Given the description of an element on the screen output the (x, y) to click on. 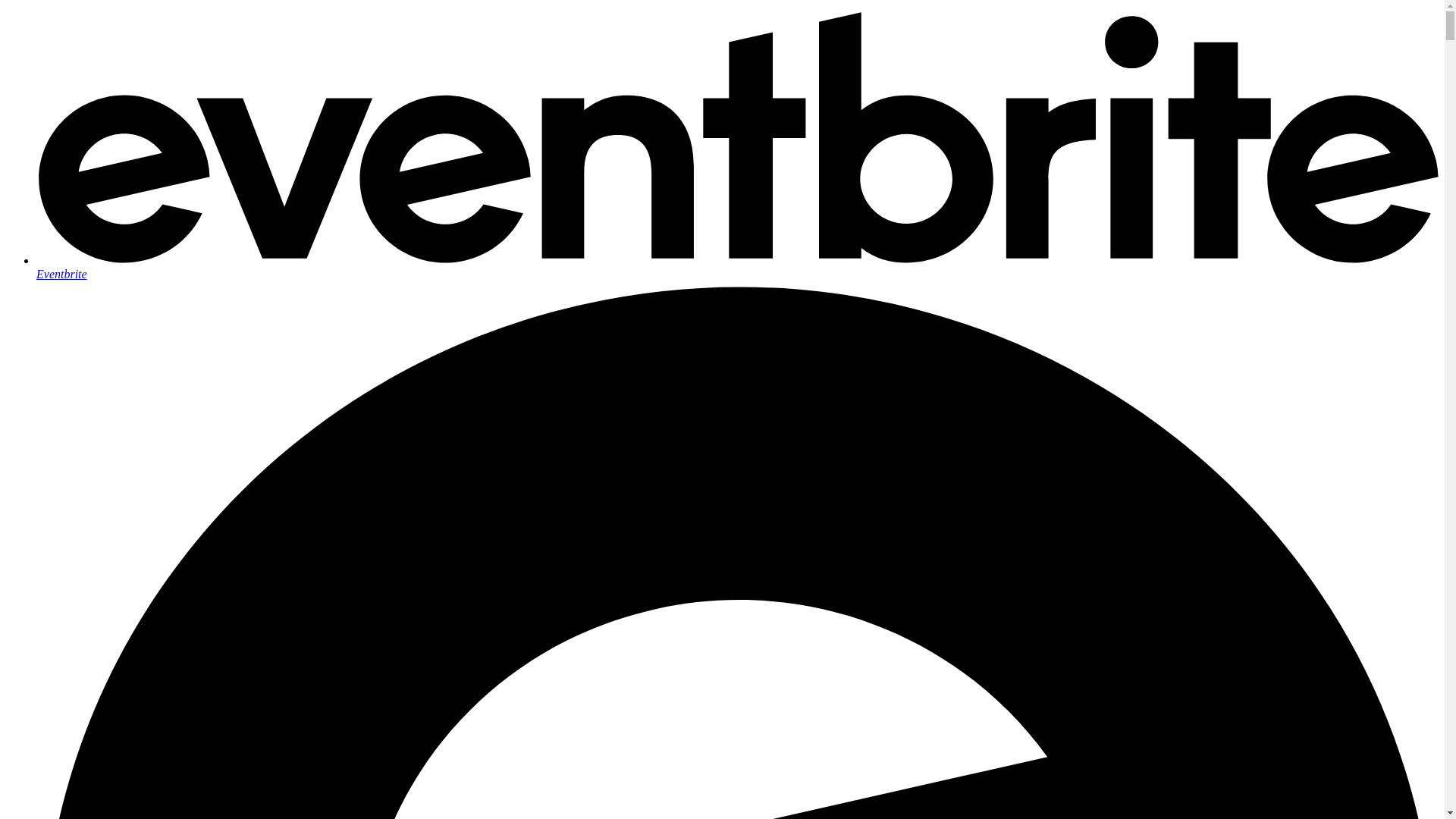
Eventbrite Element type: text (737, 267)
